Given the description of an element on the screen output the (x, y) to click on. 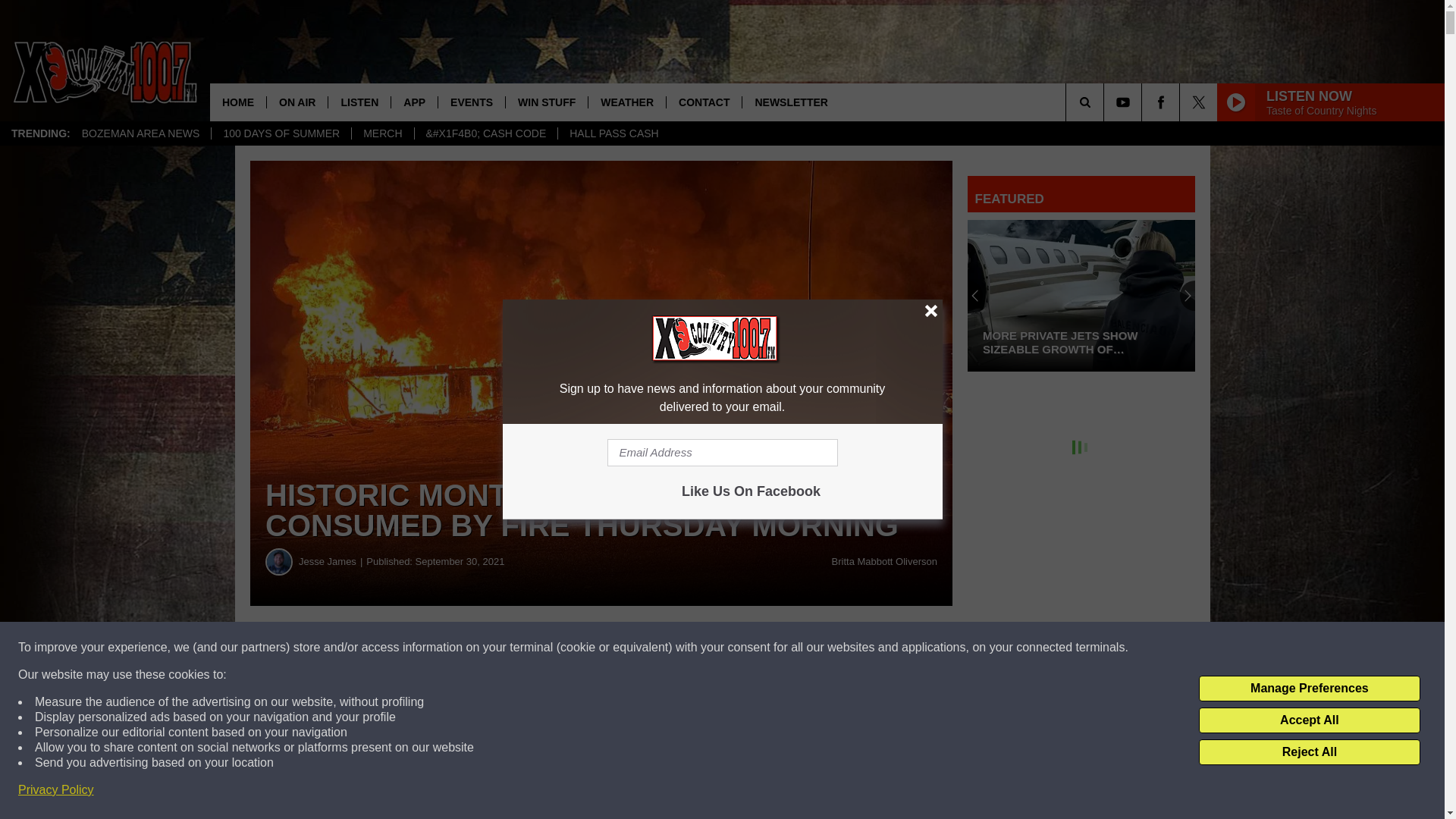
Share on Facebook (460, 647)
Share on Twitter (741, 647)
Privacy Policy (55, 789)
EVENTS (471, 102)
SEARCH (1106, 102)
SEARCH (1106, 102)
WIN STUFF (546, 102)
HOME (237, 102)
Email Address (722, 452)
HALL PASS CASH (613, 133)
LISTEN (358, 102)
ON AIR (296, 102)
Reject All (1309, 751)
WEATHER (626, 102)
Manage Preferences (1309, 688)
